Given the description of an element on the screen output the (x, y) to click on. 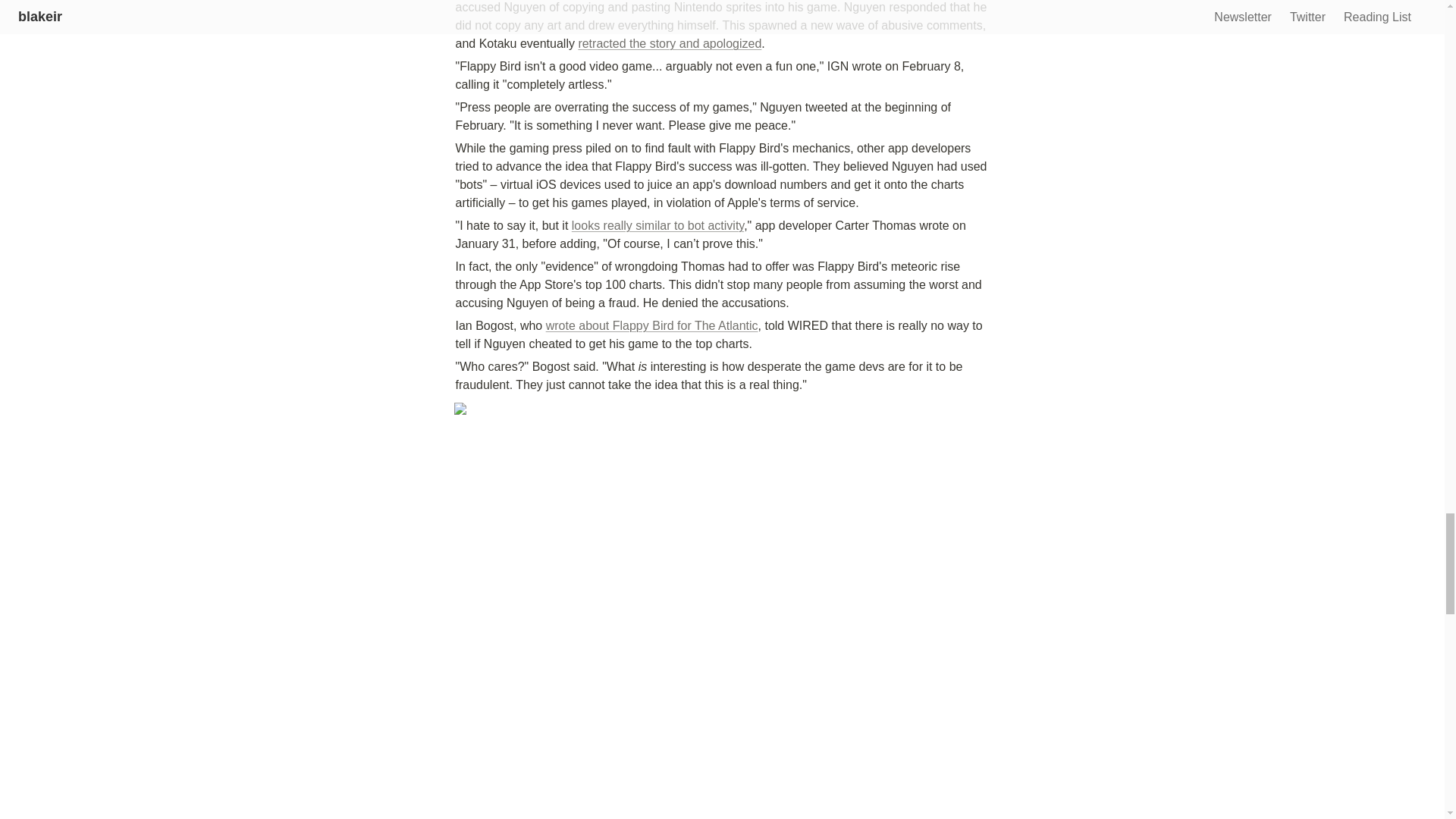
retracted the story and apologized (669, 42)
looks really similar to bot activity (658, 225)
wrote about Flappy Bird for The Atlantic (652, 325)
